Given the description of an element on the screen output the (x, y) to click on. 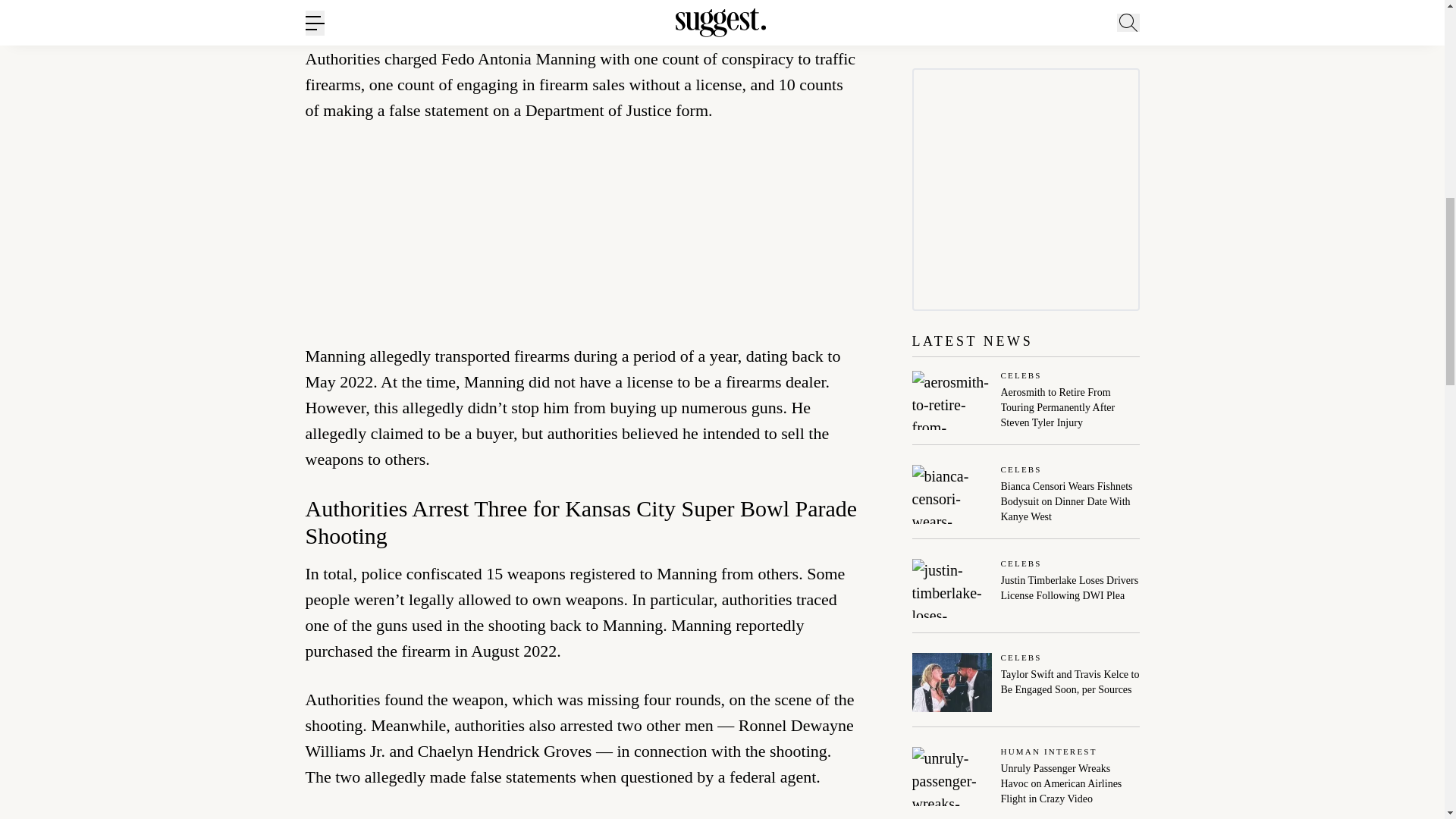
Bleacher Report (614, 11)
Celebs (1070, 470)
Celebs (1070, 376)
